Given the description of an element on the screen output the (x, y) to click on. 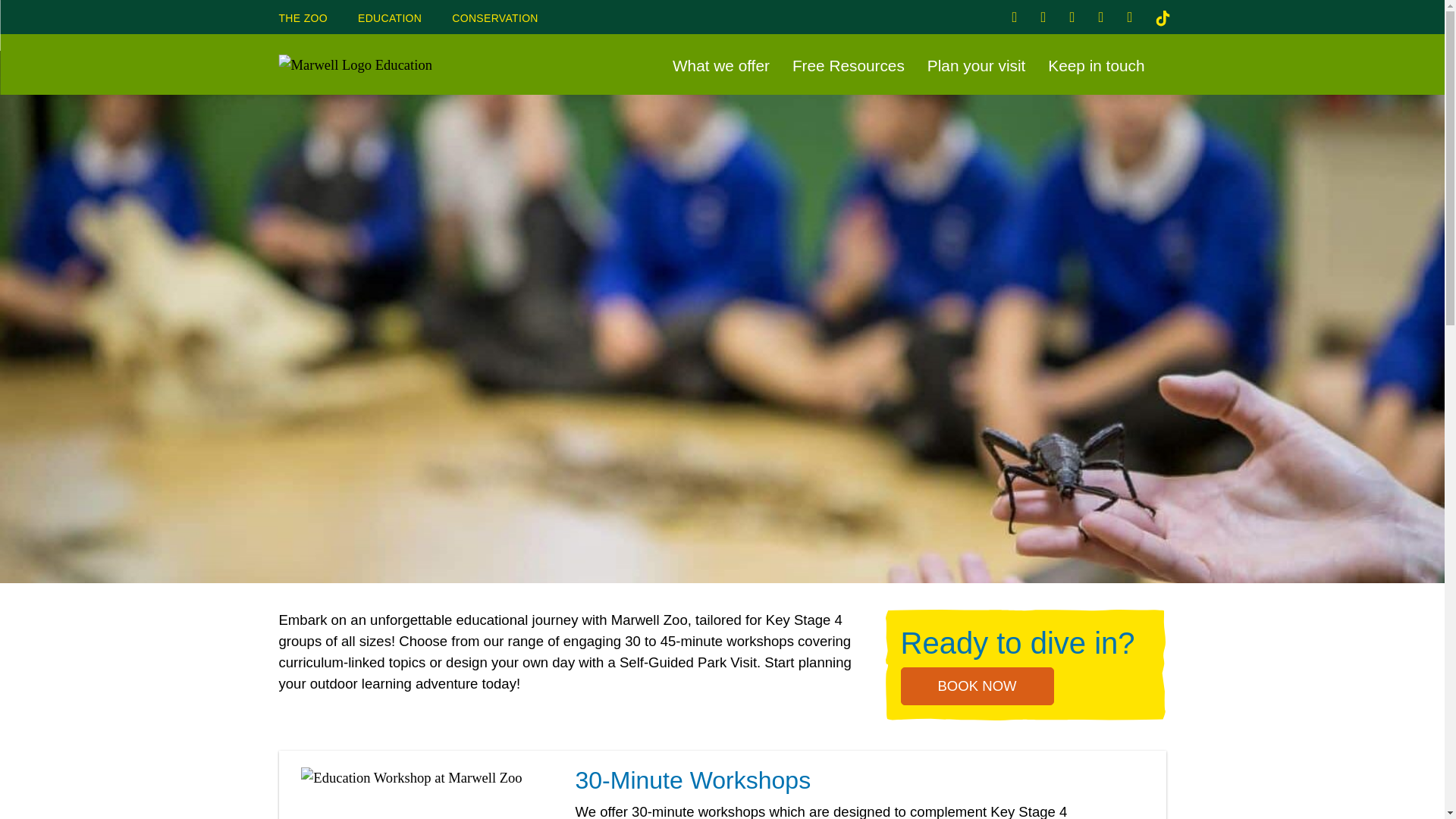
Home (686, 510)
EDUCATION (390, 19)
CONSERVATION (494, 19)
What we offer (721, 65)
Free Resources (848, 65)
THE ZOO (303, 19)
Education (742, 510)
